Given the description of an element on the screen output the (x, y) to click on. 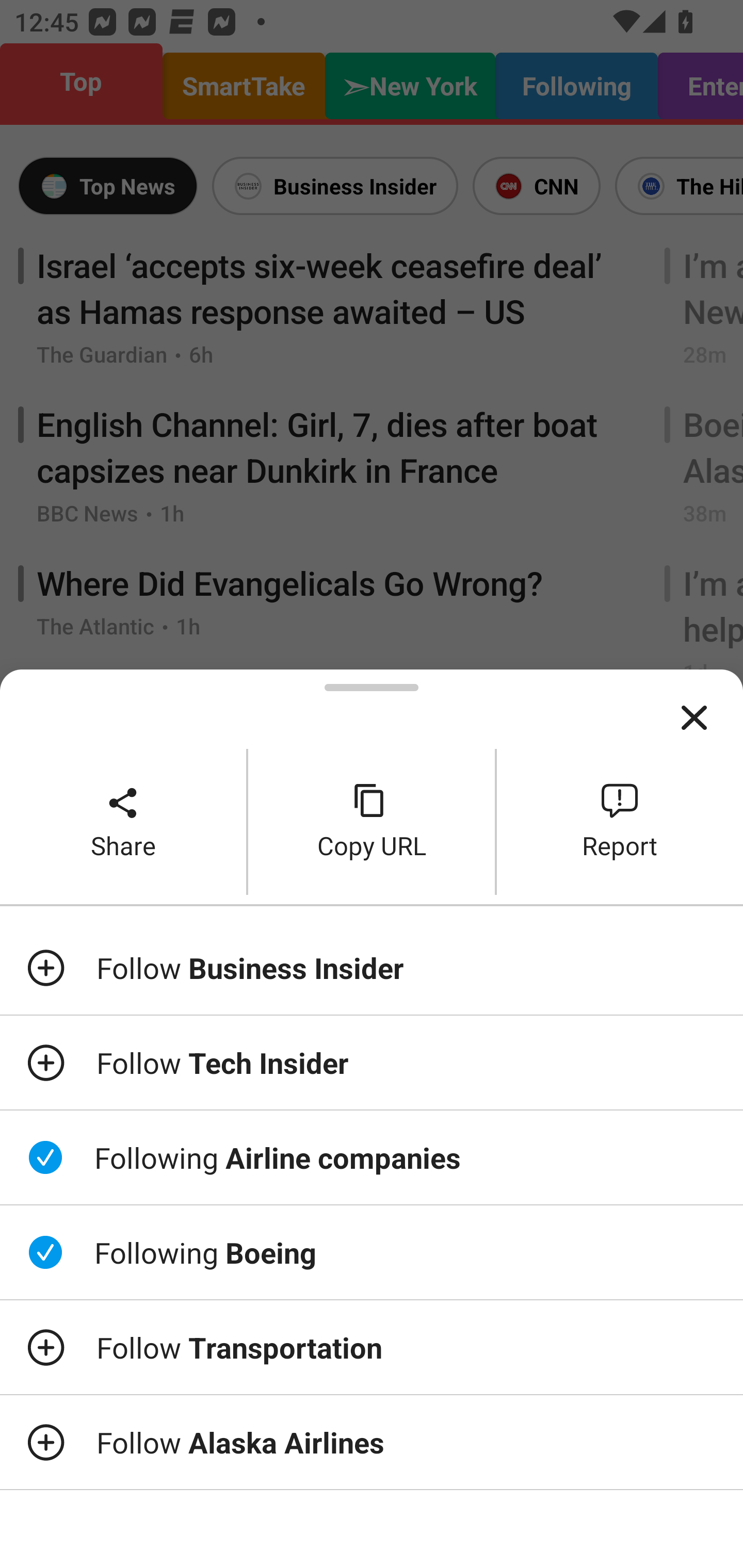
Close (694, 717)
Share (122, 822)
Copy URL (371, 822)
Report (620, 822)
Follow Business Insider (371, 967)
Follow Tech Insider (371, 1063)
Following Airline companies (371, 1157)
Following Boeing (371, 1252)
Follow Transportation (371, 1346)
Follow Alaska Airlines (371, 1442)
